Given the description of an element on the screen output the (x, y) to click on. 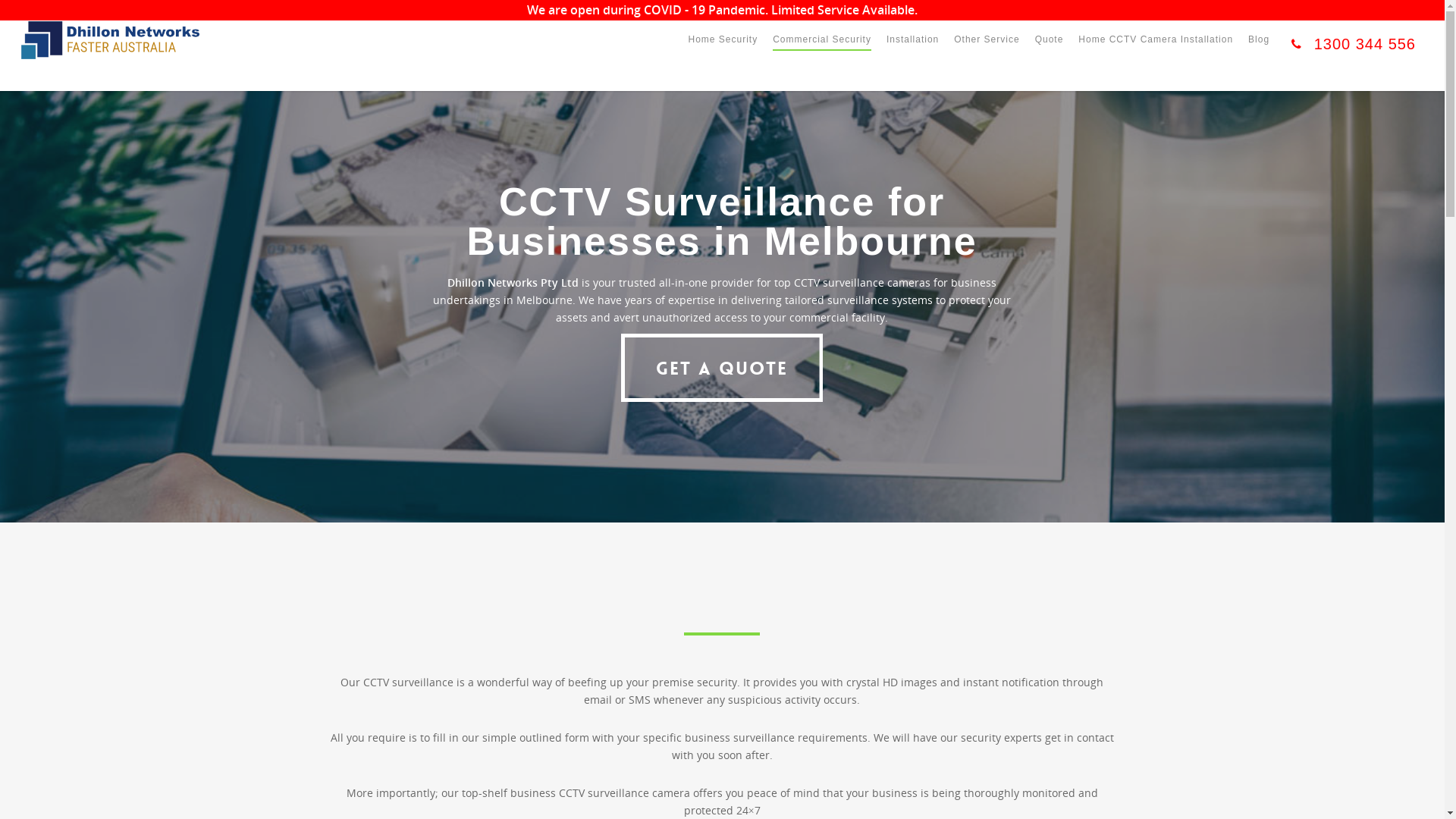
Commercial Security Element type: text (821, 50)
1300 344 556 Element type: text (1349, 56)
GET A QUOTE
GET A QUOTE Element type: text (722, 367)
Blog Element type: text (1258, 50)
Quote Element type: text (1049, 50)
Other Service Element type: text (986, 50)
Home CCTV Camera Installation Element type: text (1155, 50)
Installation Element type: text (912, 50)
Home Security Element type: text (722, 50)
